Given the description of an element on the screen output the (x, y) to click on. 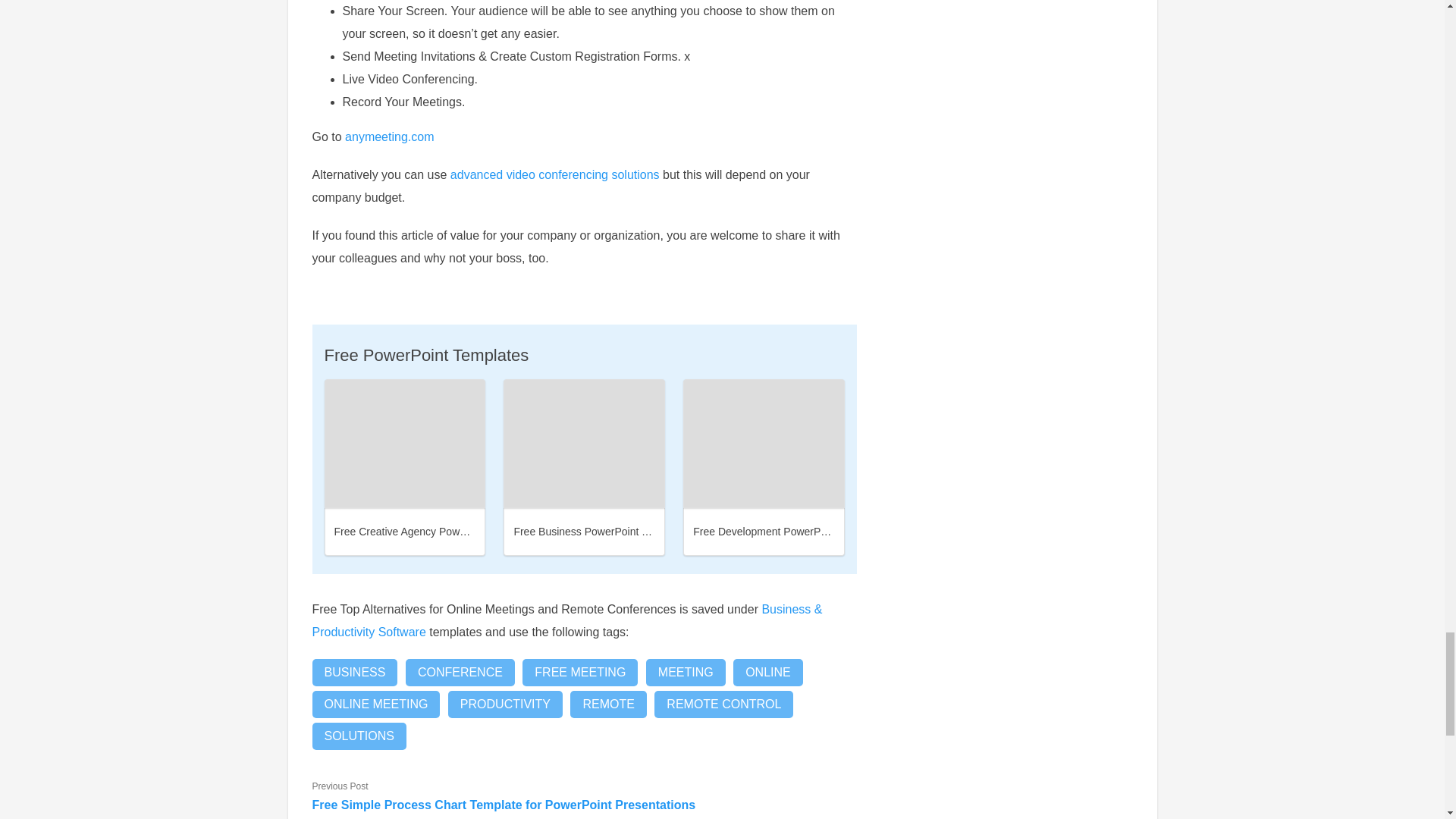
SOLUTIONS (359, 736)
REMOTE CONTROL (723, 704)
Free Development PowerPoint Template (788, 531)
advanced video conferencing solutions (554, 174)
Free Creative Agency PowerPoint template (435, 531)
BUSINESS (355, 672)
FREE MEETING (579, 672)
anymeeting.com (389, 136)
Free Business PowerPoint Template (598, 531)
PRODUCTIVITY (505, 704)
